Given the description of an element on the screen output the (x, y) to click on. 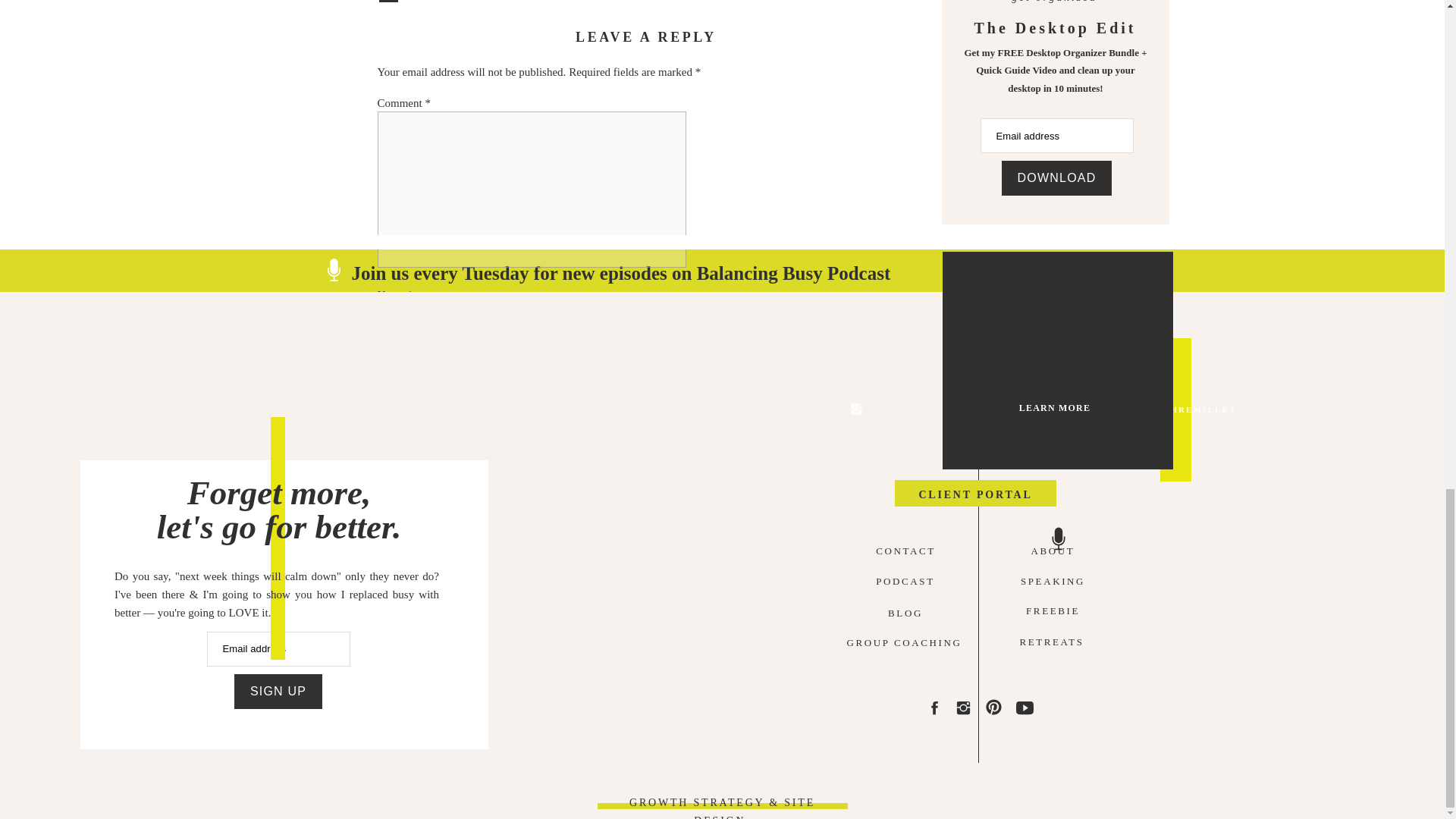
DOWNLOAD (1056, 177)
Post Comment (419, 462)
LEARN MORE (1053, 411)
